Given the description of an element on the screen output the (x, y) to click on. 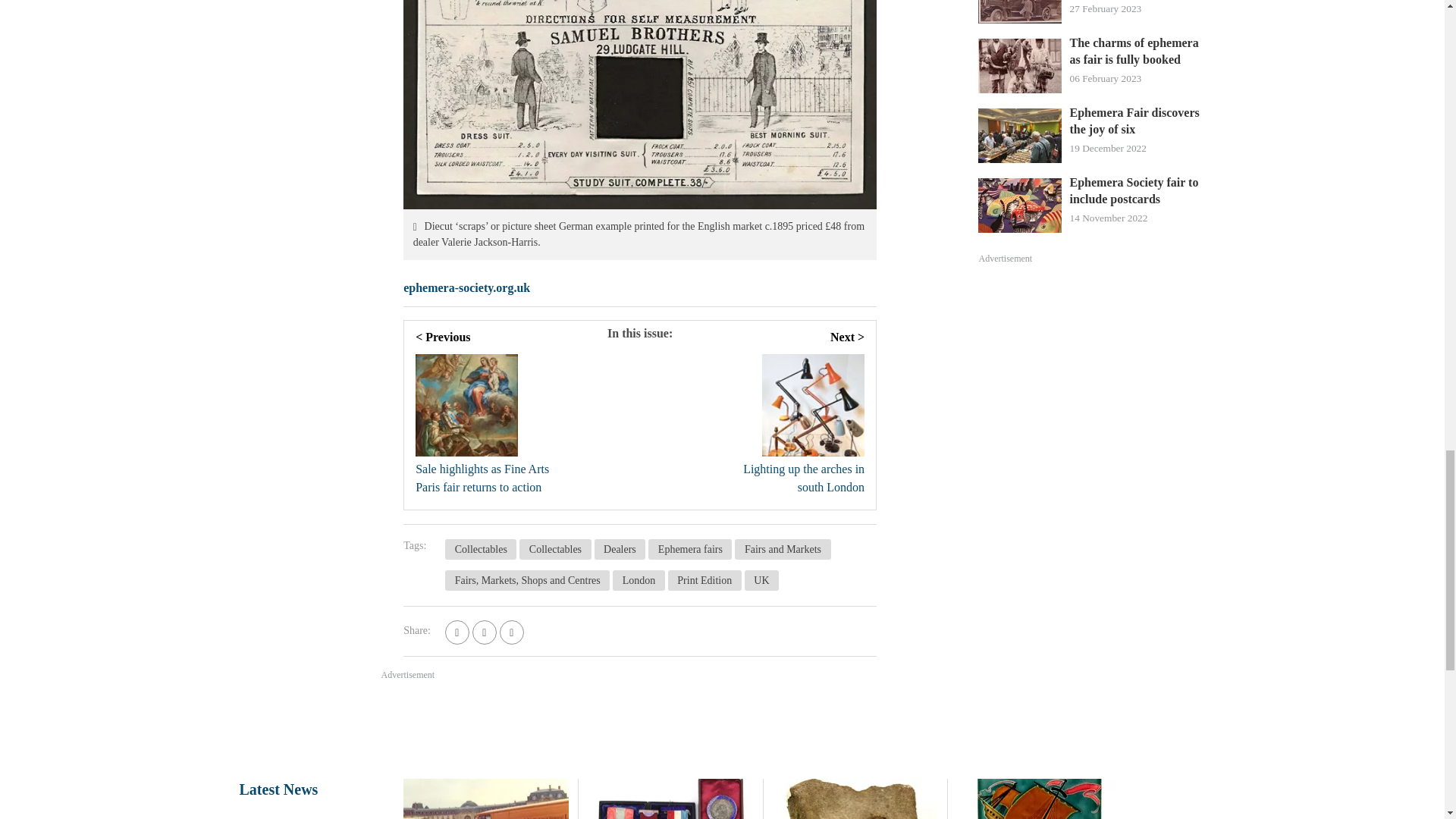
Ephemera Fair discovers the joy of six (1136, 121)
3rd party ad content (721, 723)
The charms of ephemera as fair is fully booked (1136, 51)
3rd party ad content (1091, 379)
Ephemera Society fair to include postcards (1136, 191)
